Given the description of an element on the screen output the (x, y) to click on. 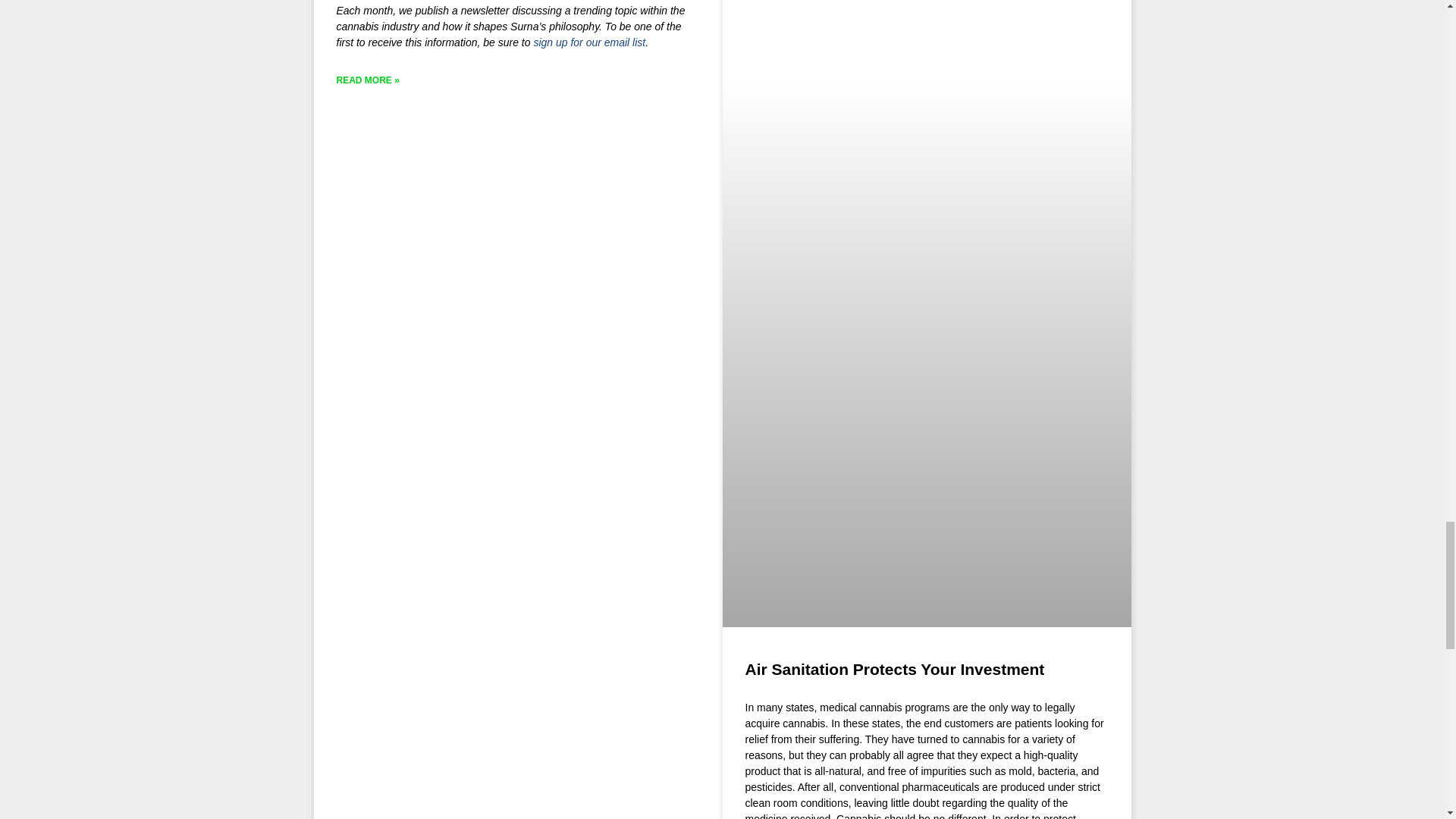
Surna Newsletter Sign Up (588, 42)
